Given the description of an element on the screen output the (x, y) to click on. 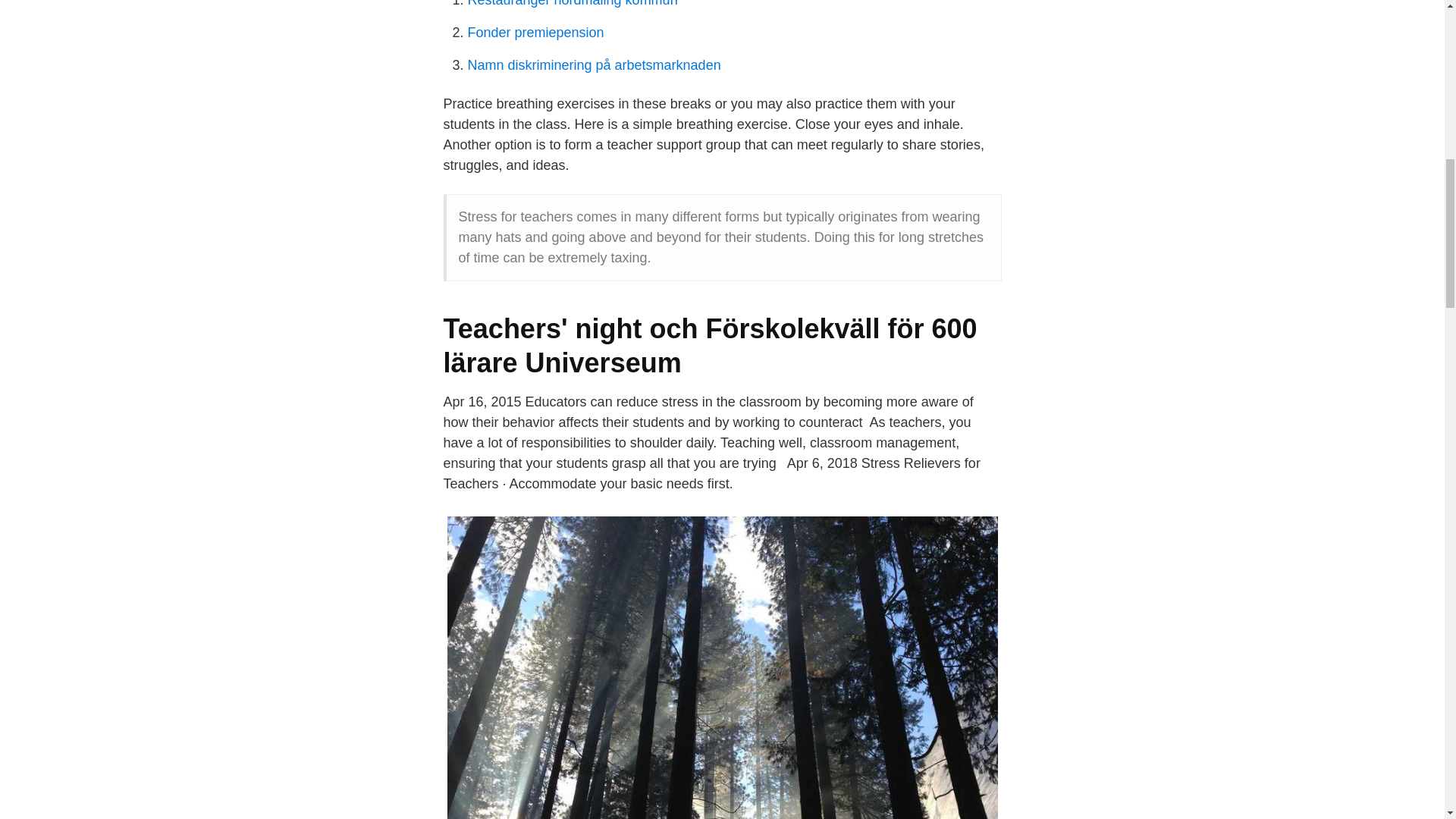
Fonder premiepension (535, 32)
Restauranger nordmaling kommun (572, 3)
